Given the description of an element on the screen output the (x, y) to click on. 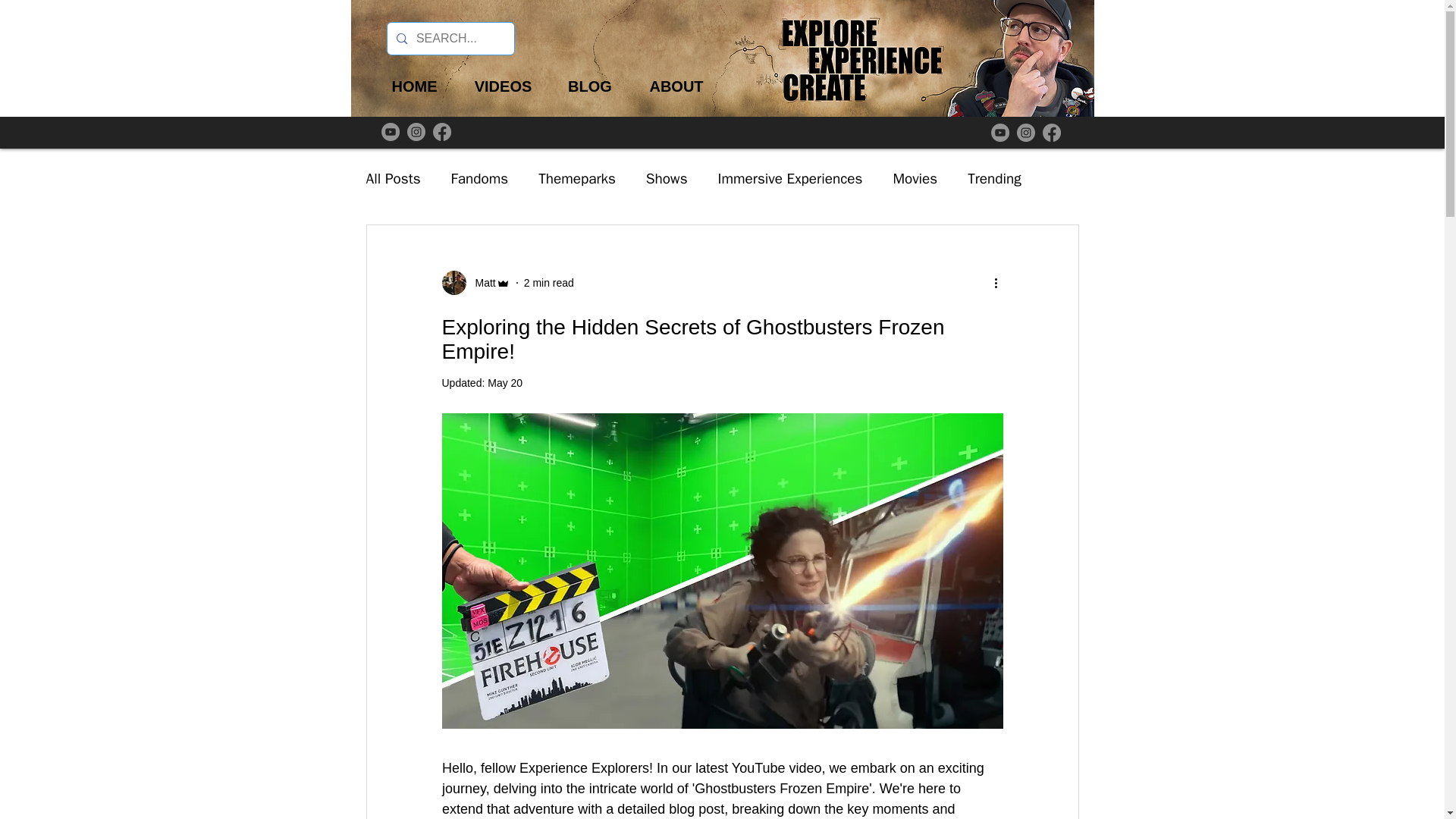
Trending (995, 178)
ABOUT (676, 86)
Movies (914, 178)
HOME (414, 86)
BLOG (589, 86)
Fandoms (479, 178)
Matt (475, 282)
2 min read (548, 282)
Matt (480, 282)
Themeparks (576, 178)
All Posts (392, 178)
May 20 (504, 382)
Immersive Experiences (790, 178)
Shows (666, 178)
VIDEOS (502, 86)
